Given the description of an element on the screen output the (x, y) to click on. 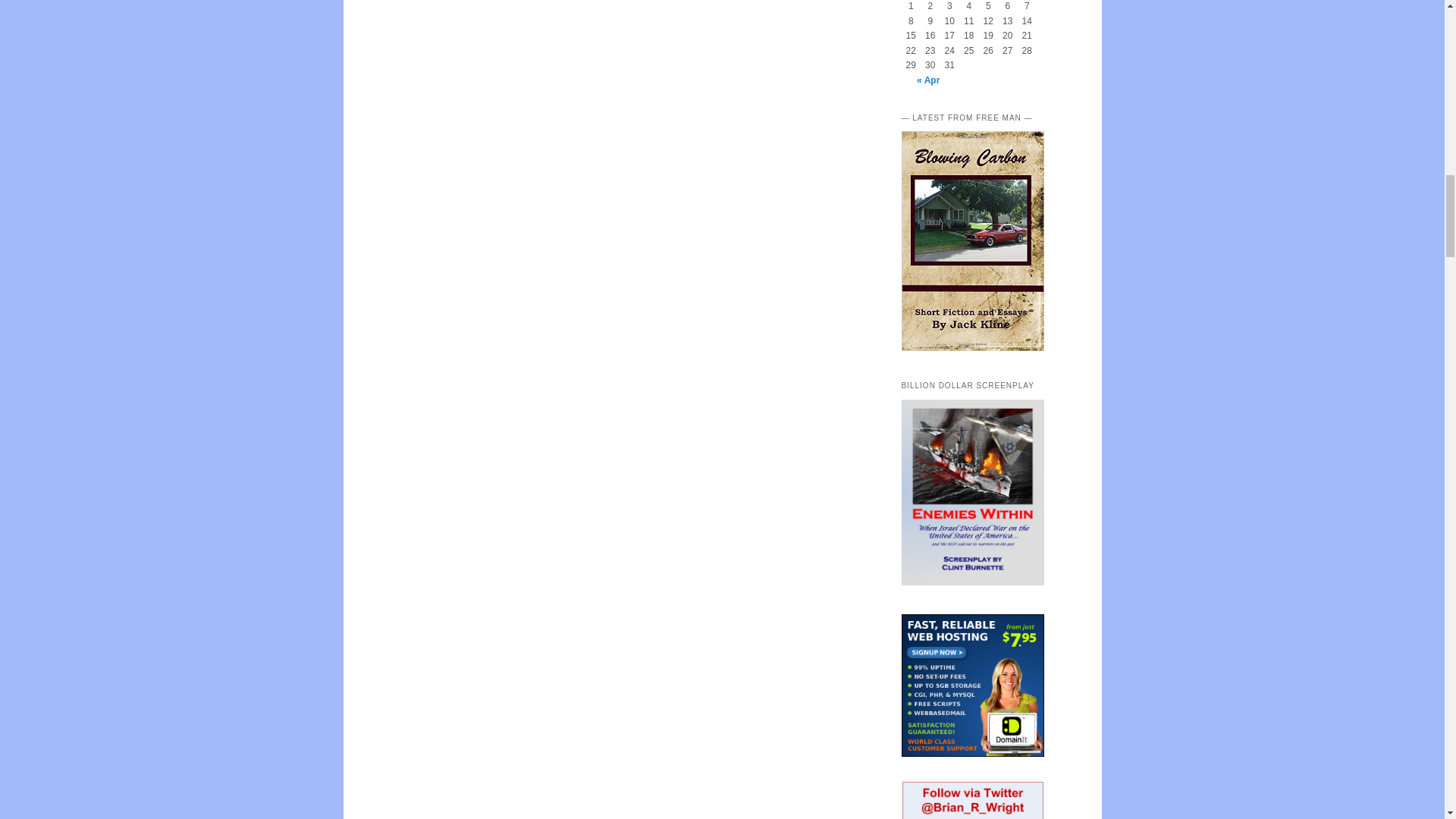
Fast, Reliable Web Hosting (972, 685)
